Given the description of an element on the screen output the (x, y) to click on. 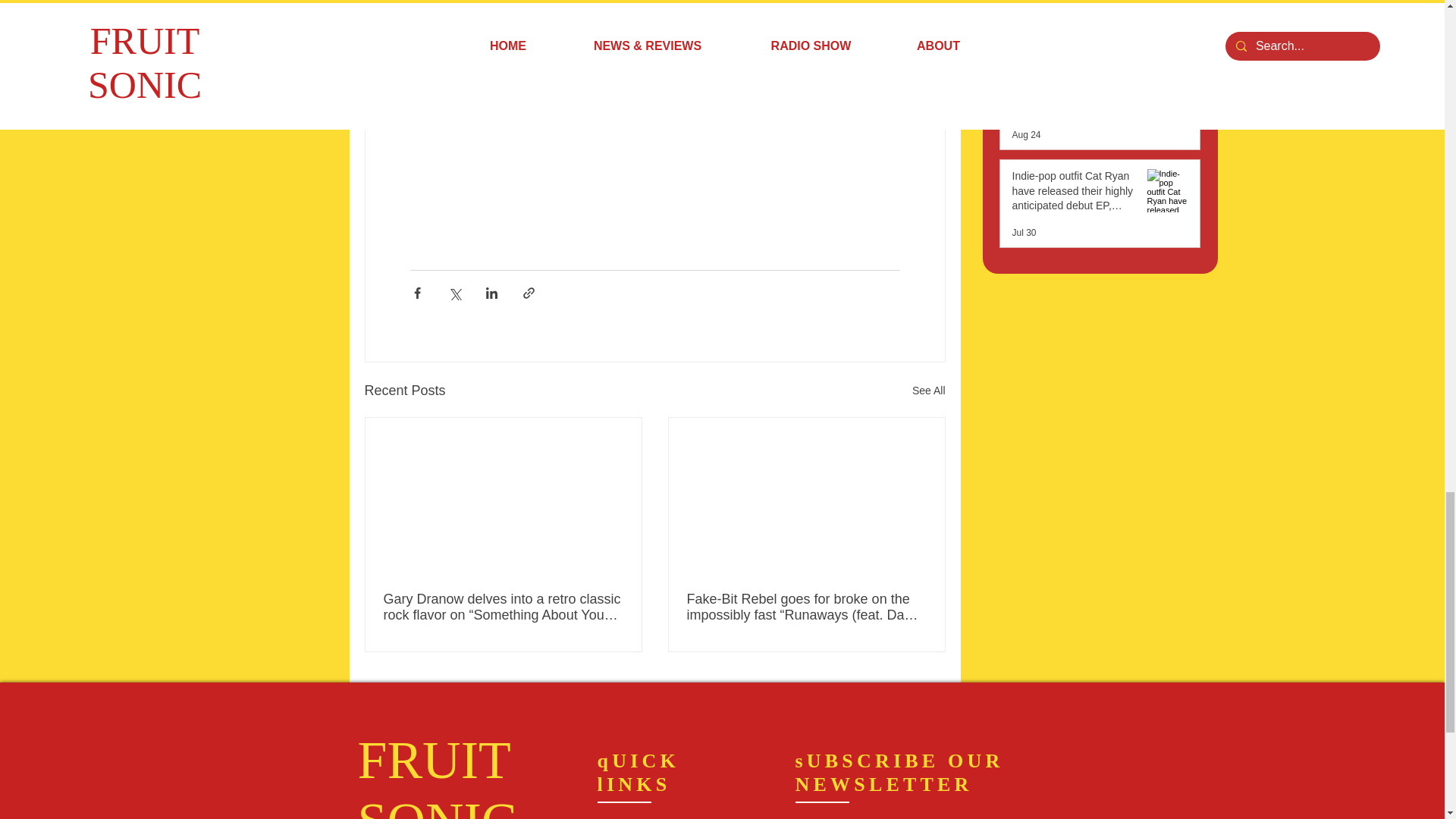
FRUIT SONIC (437, 774)
Aug 24 (1026, 134)
20 hours ago (1037, 36)
Jul 30 (1023, 232)
sUBSCRIBE OUR NEWSLETTER (898, 772)
qUICK lINKS (637, 772)
See All (928, 391)
